Given the description of an element on the screen output the (x, y) to click on. 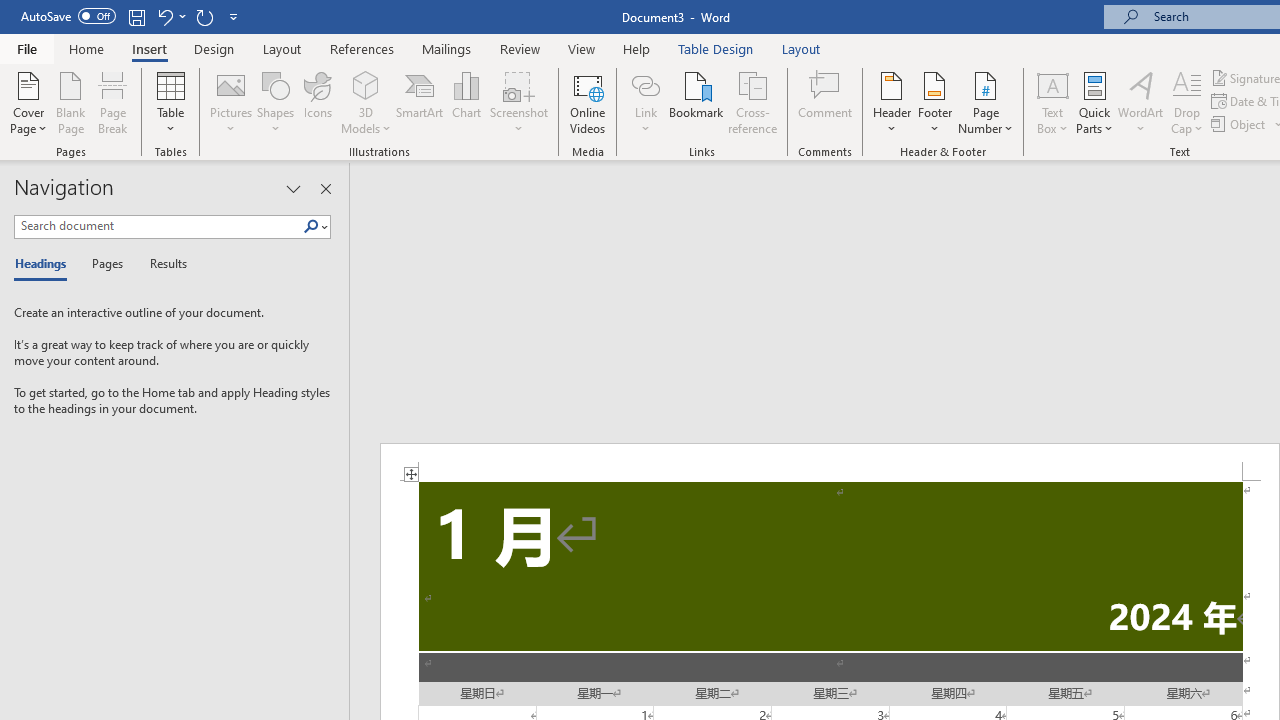
Repeat Doc Close (204, 15)
Results (161, 264)
Close pane (325, 188)
Chart... (466, 102)
Screenshot (518, 102)
Icons (317, 102)
Cross-reference... (752, 102)
WordArt (1141, 102)
Undo Increase Indent (170, 15)
Table Design (715, 48)
Shapes (275, 102)
